Given the description of an element on the screen output the (x, y) to click on. 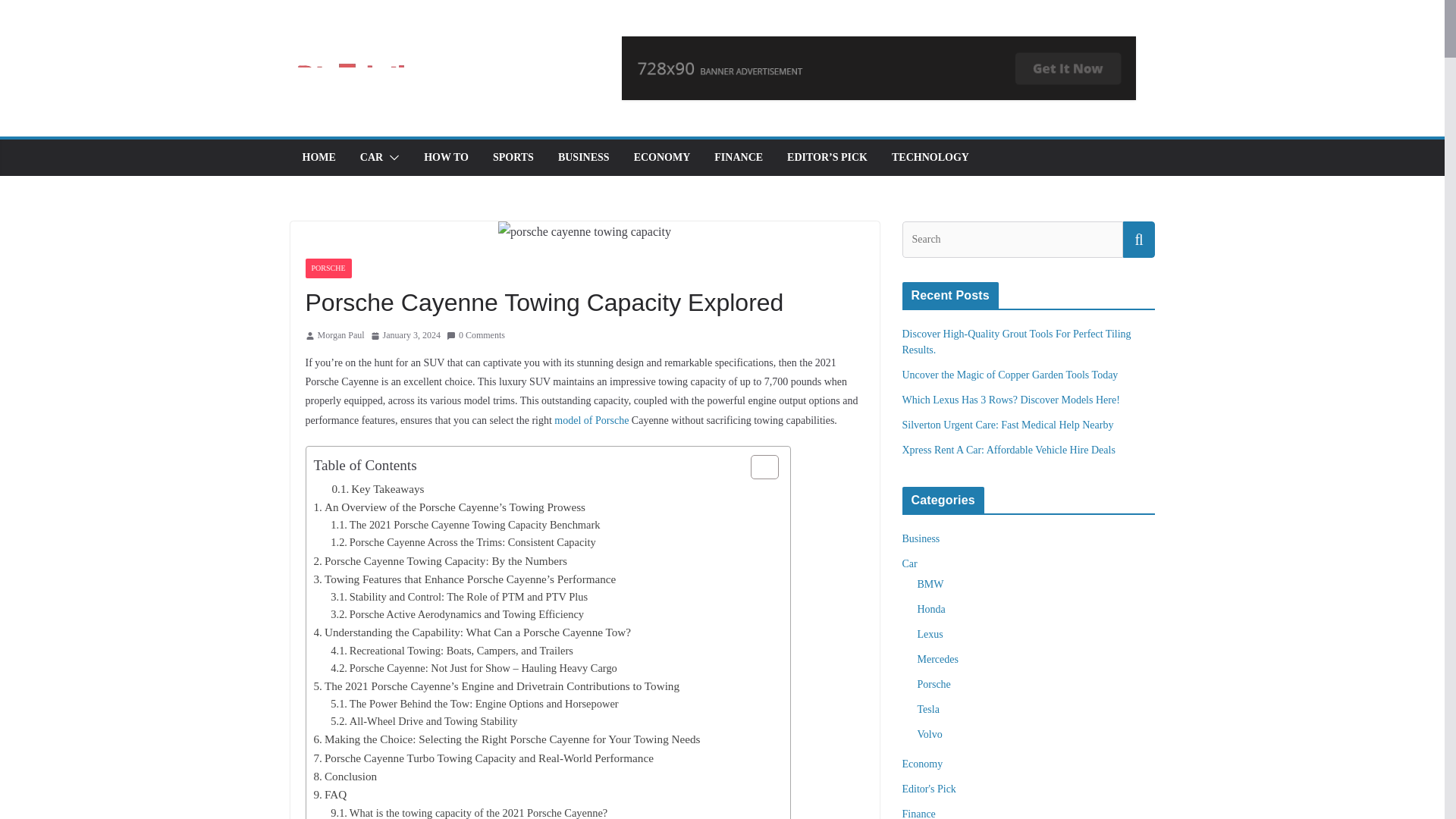
The Power Behind the Tow: Engine Options and Horsepower (473, 703)
Stability and Control: The Role of PTM and PTV Plus (459, 597)
PORSCHE (327, 268)
Porsche Cayenne Towing Capacity: By the Numbers (440, 561)
The 2021 Porsche Cayenne Towing Capacity Benchmark (464, 524)
model of Porsche (591, 419)
Porsche Active Aerodynamics and Towing Efficiency (456, 614)
All-Wheel Drive and Towing Stability (423, 721)
